Given the description of an element on the screen output the (x, y) to click on. 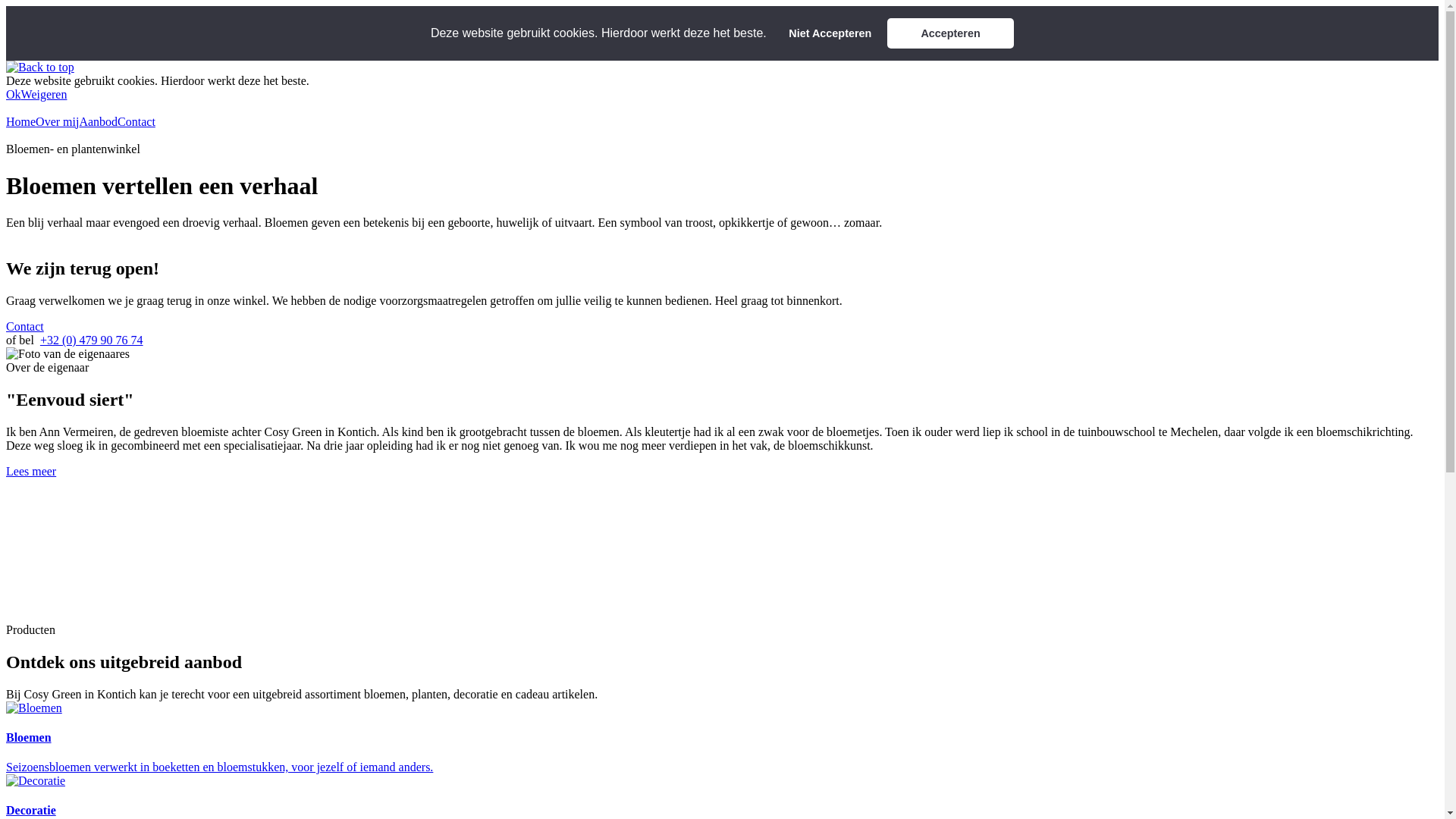
Contact Element type: text (24, 326)
Niet Accepteren Element type: text (829, 33)
+32 (0) 479 90 76 74 Element type: text (91, 339)
Home Element type: text (20, 121)
Contact Element type: text (136, 121)
Aanbod Element type: text (97, 121)
Lees meer Element type: text (31, 470)
Accepteren Element type: text (950, 33)
Over mij Element type: text (56, 121)
Weigeren Element type: text (44, 93)
Ok Element type: text (13, 93)
